Given the description of an element on the screen output the (x, y) to click on. 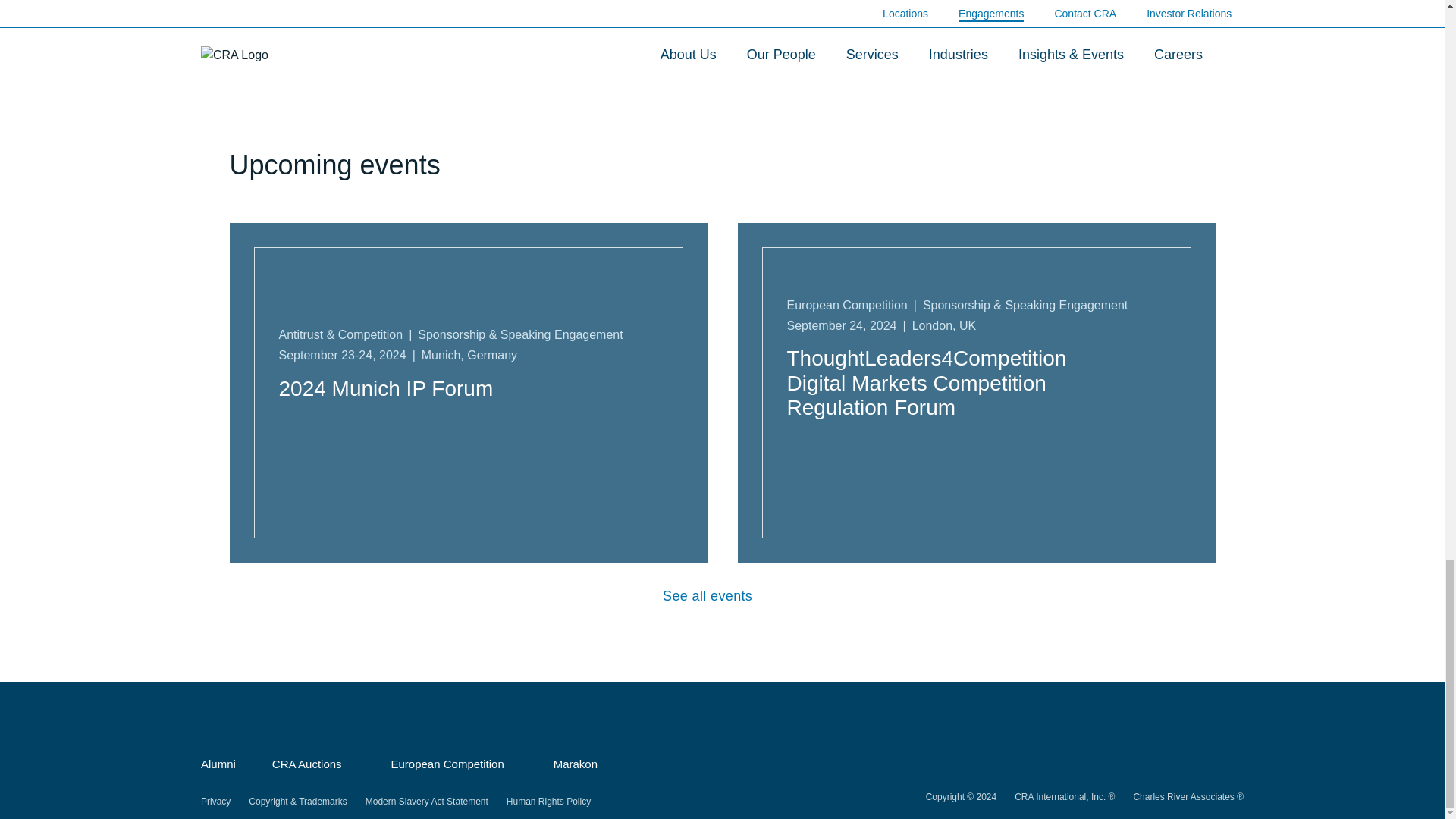
Marakon (581, 763)
European Competition (453, 763)
Privacy (215, 802)
See all events (721, 595)
Alumni (217, 765)
CRA Auctions (313, 763)
Explore our thinking (722, 63)
